Given the description of an element on the screen output the (x, y) to click on. 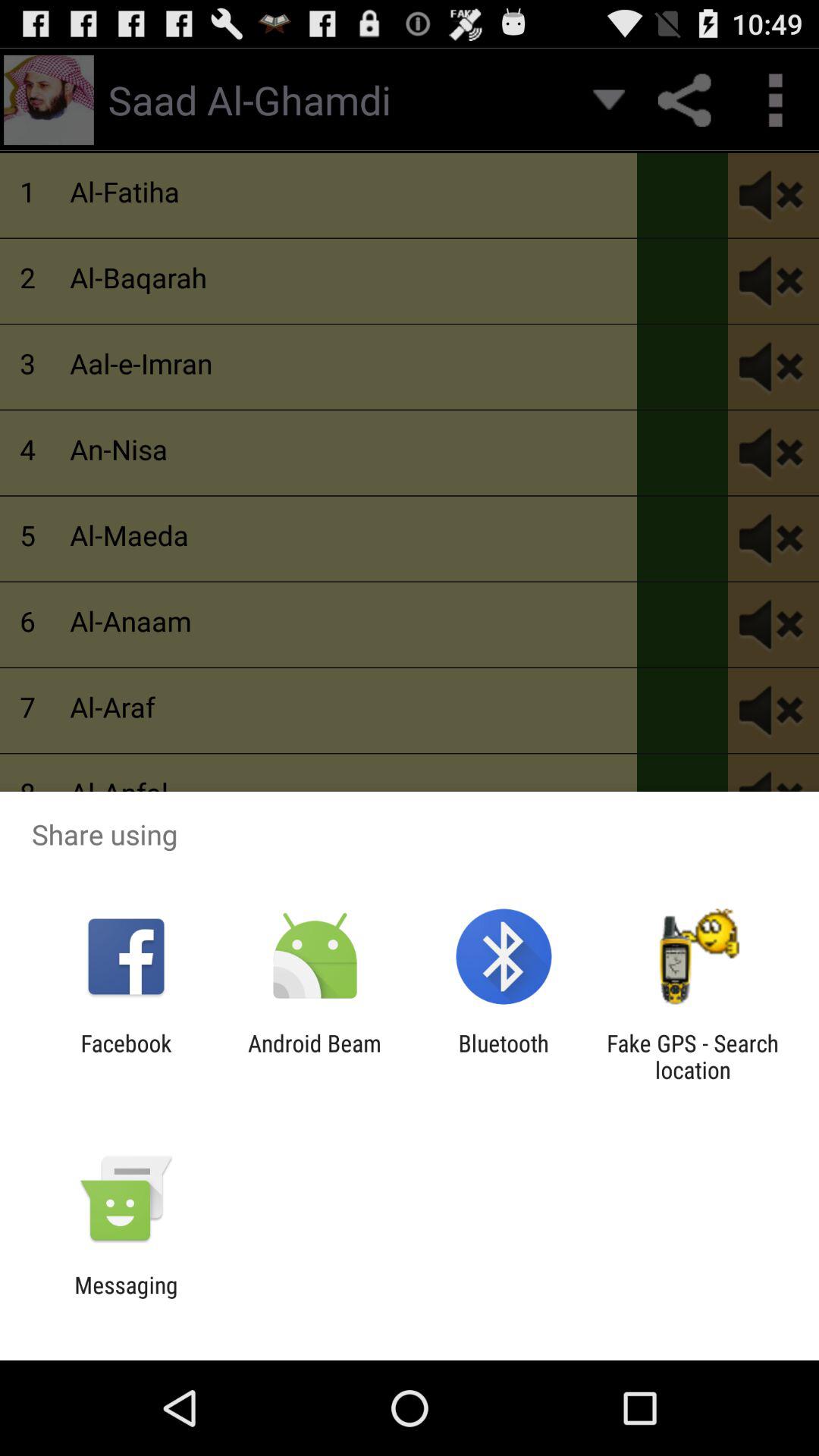
tap app to the right of bluetooth app (692, 1056)
